Given the description of an element on the screen output the (x, y) to click on. 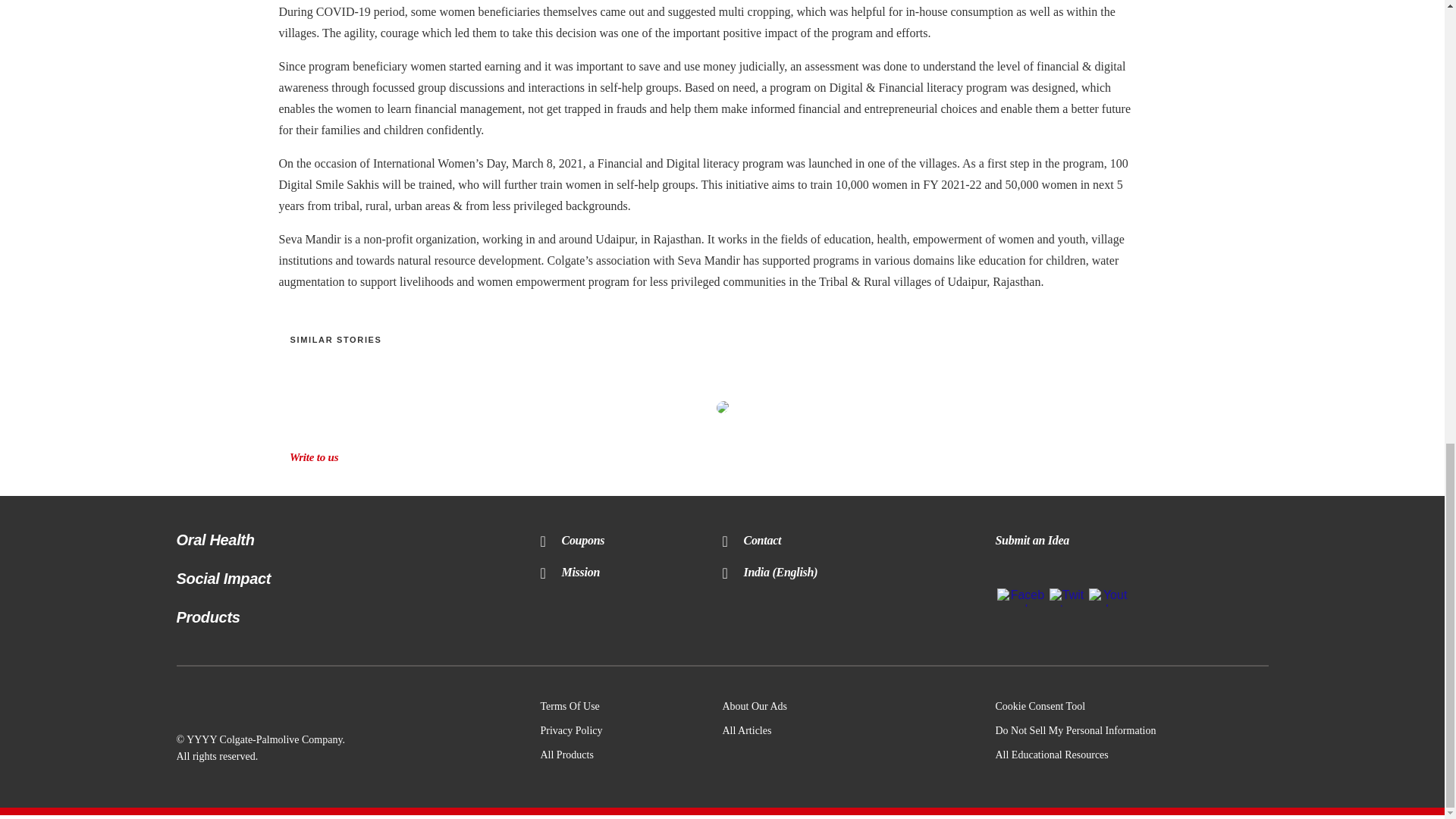
share your story (722, 407)
Facebook (1020, 602)
YouTube (1109, 602)
Twitter (1066, 602)
